Given the description of an element on the screen output the (x, y) to click on. 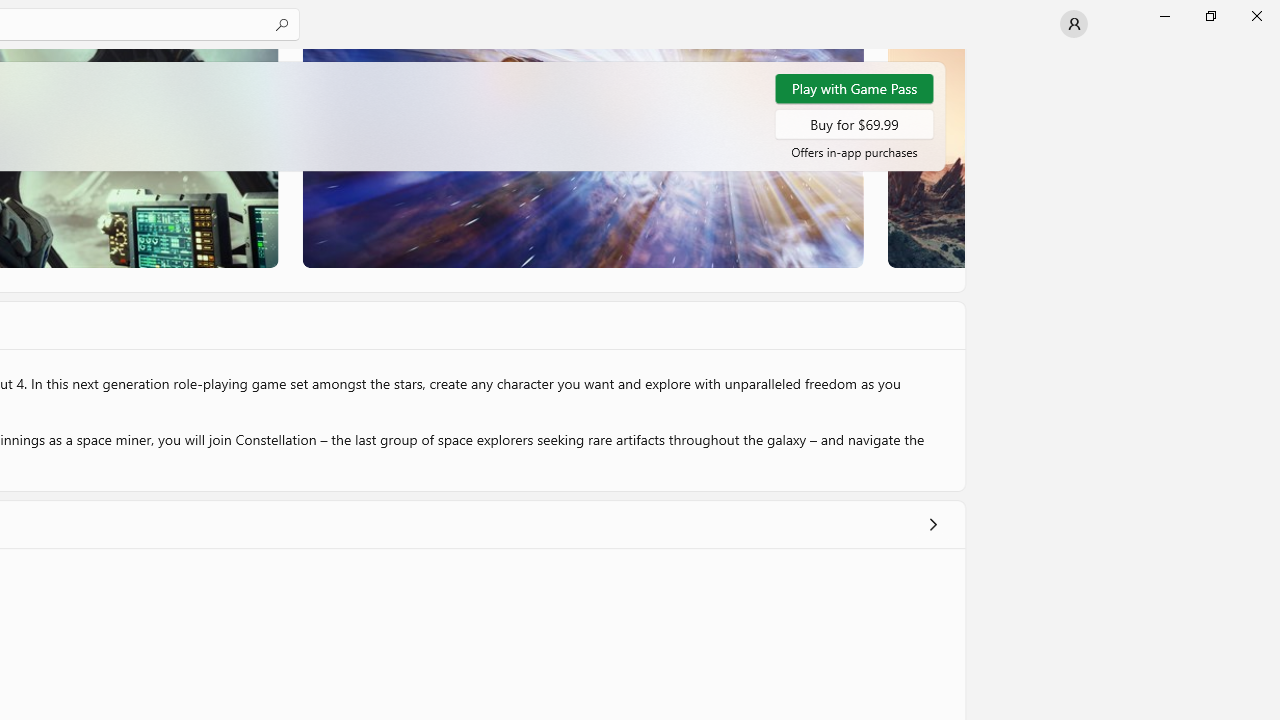
Screenshot 4 (925, 157)
Screenshot 3 (582, 157)
Buy (854, 123)
Play with Game Pass (854, 87)
Show all ratings and reviews (932, 524)
